Given the description of an element on the screen output the (x, y) to click on. 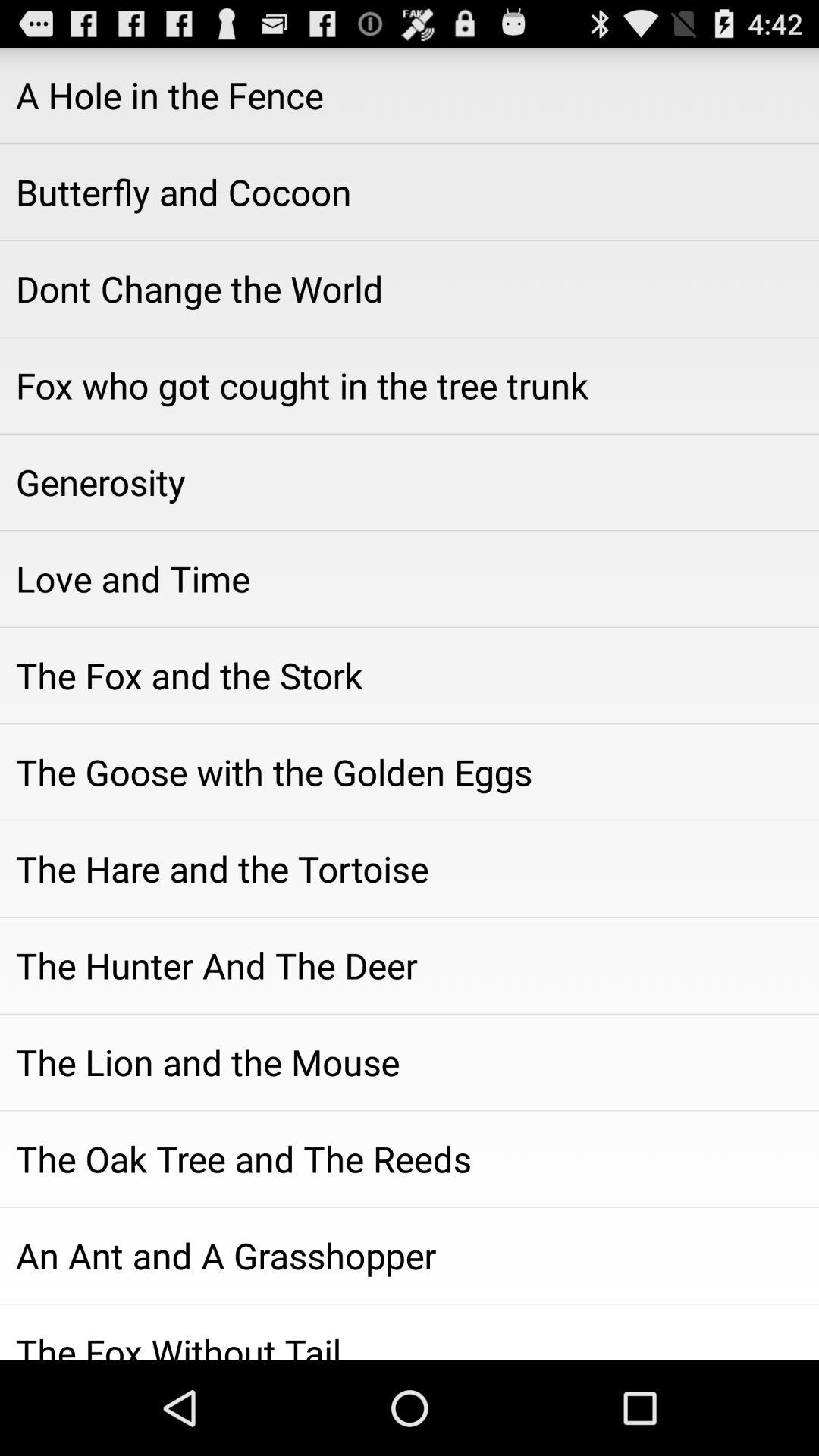
jump until the goose with icon (409, 772)
